Given the description of an element on the screen output the (x, y) to click on. 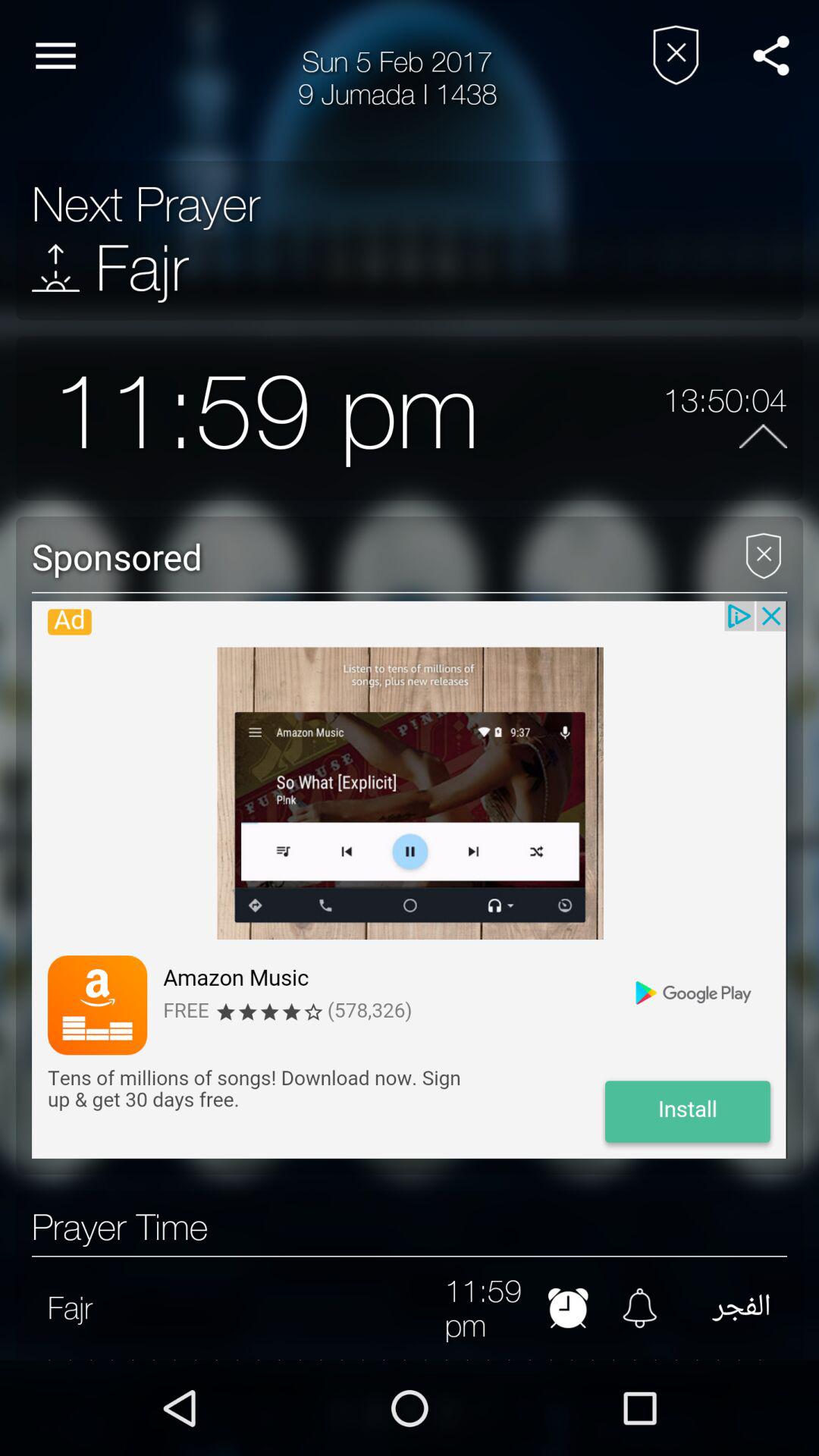
launch the sponsored item (369, 556)
